Given the description of an element on the screen output the (x, y) to click on. 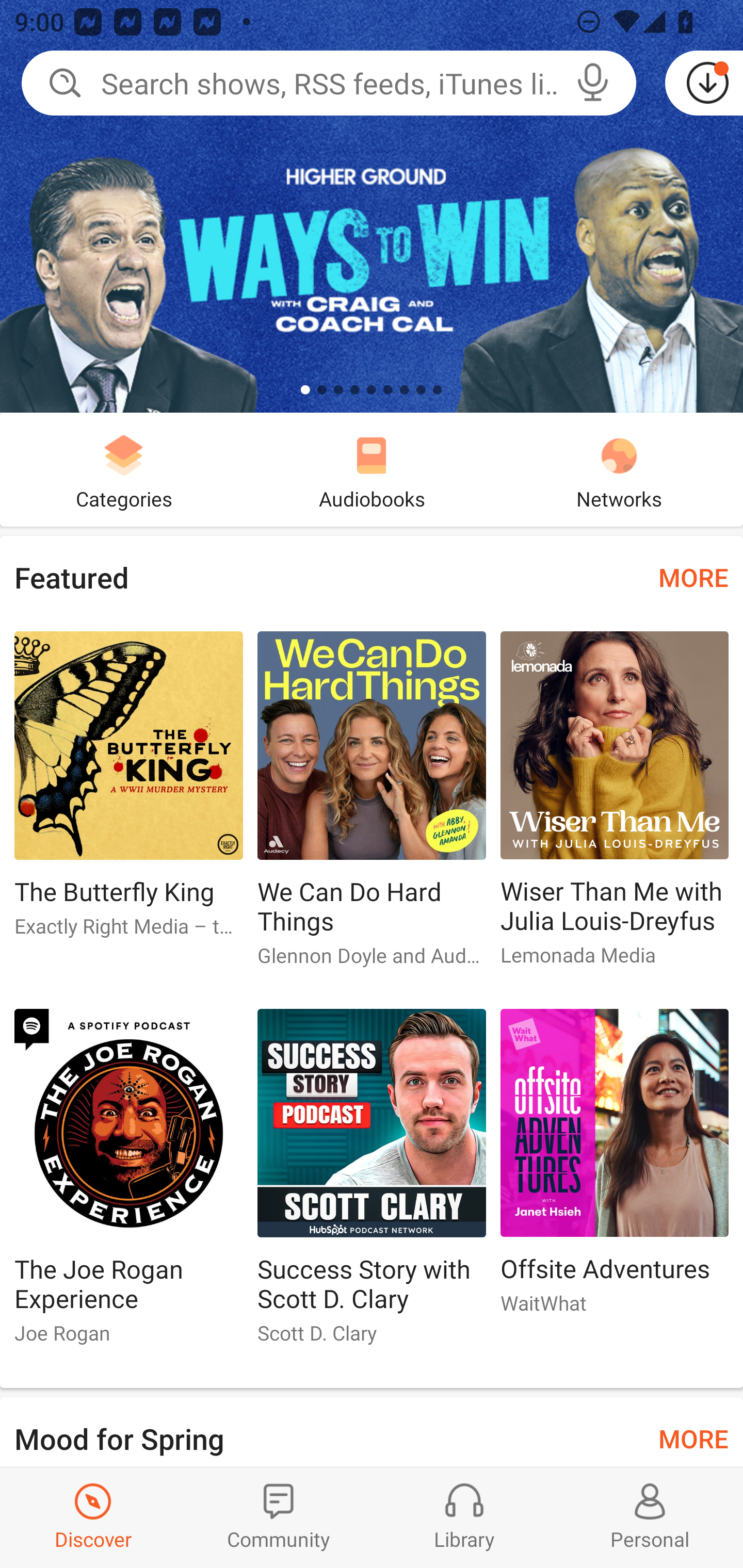
Ways To Win (371, 206)
Categories (123, 469)
Audiobooks (371, 469)
Networks (619, 469)
MORE (693, 576)
Offsite Adventures Offsite Adventures WaitWhat (614, 1169)
MORE (693, 1436)
Discover (92, 1517)
Community (278, 1517)
Library (464, 1517)
Profiles and Settings Personal (650, 1517)
